Given the description of an element on the screen output the (x, y) to click on. 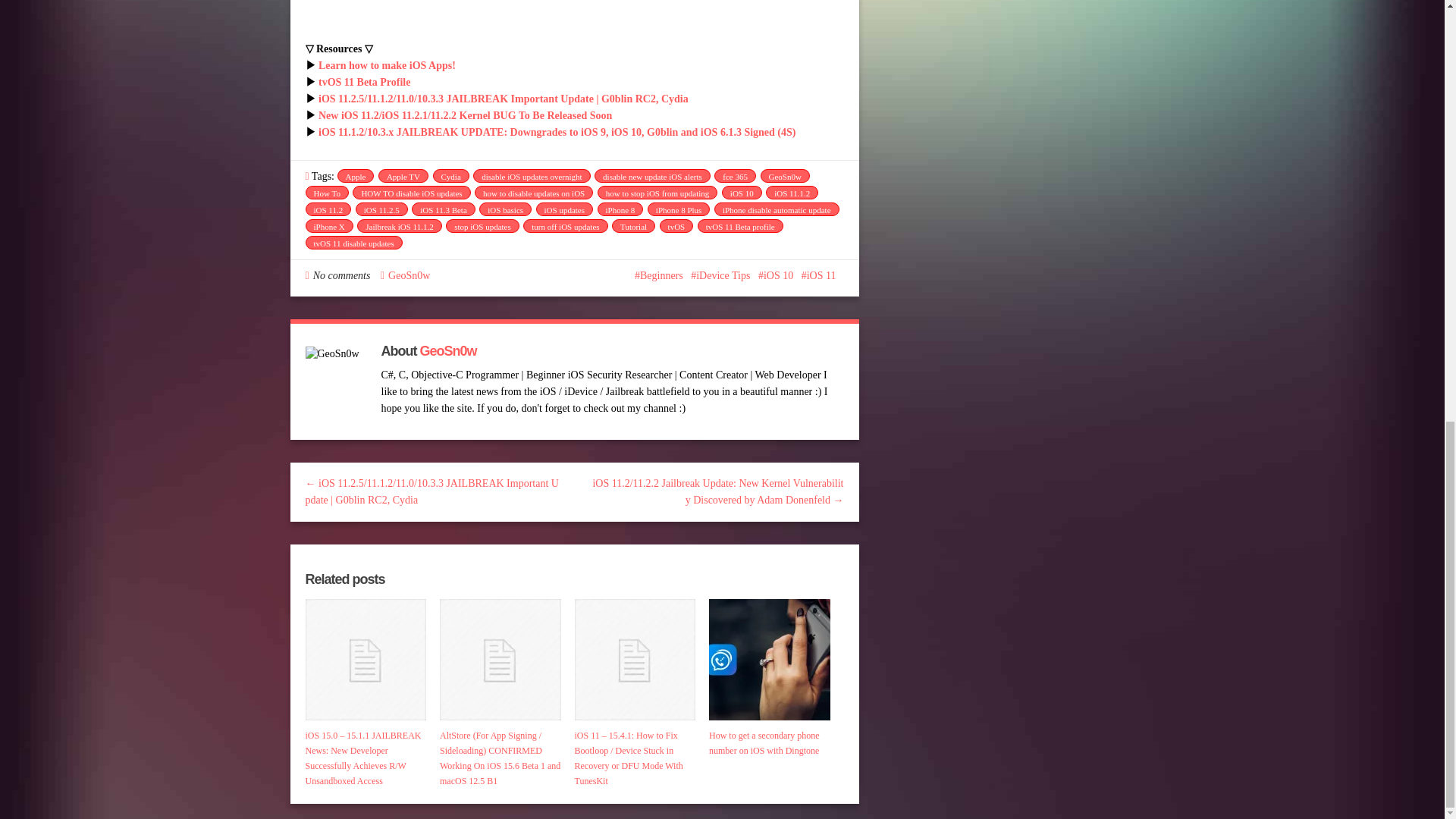
disable iOS updates overnight (531, 175)
iOS 11.2.5 (381, 209)
how to stop iOS from updating (656, 192)
Posts by GeoSn0w (408, 275)
Apple (355, 175)
tvOS 11 Beta Profile (364, 81)
iOS 11.3 Beta (444, 209)
How to get a secondary phone number on iOS with Dingtone (769, 659)
how to disable updates on iOS (533, 192)
GeoSn0w (784, 175)
